Given the description of an element on the screen output the (x, y) to click on. 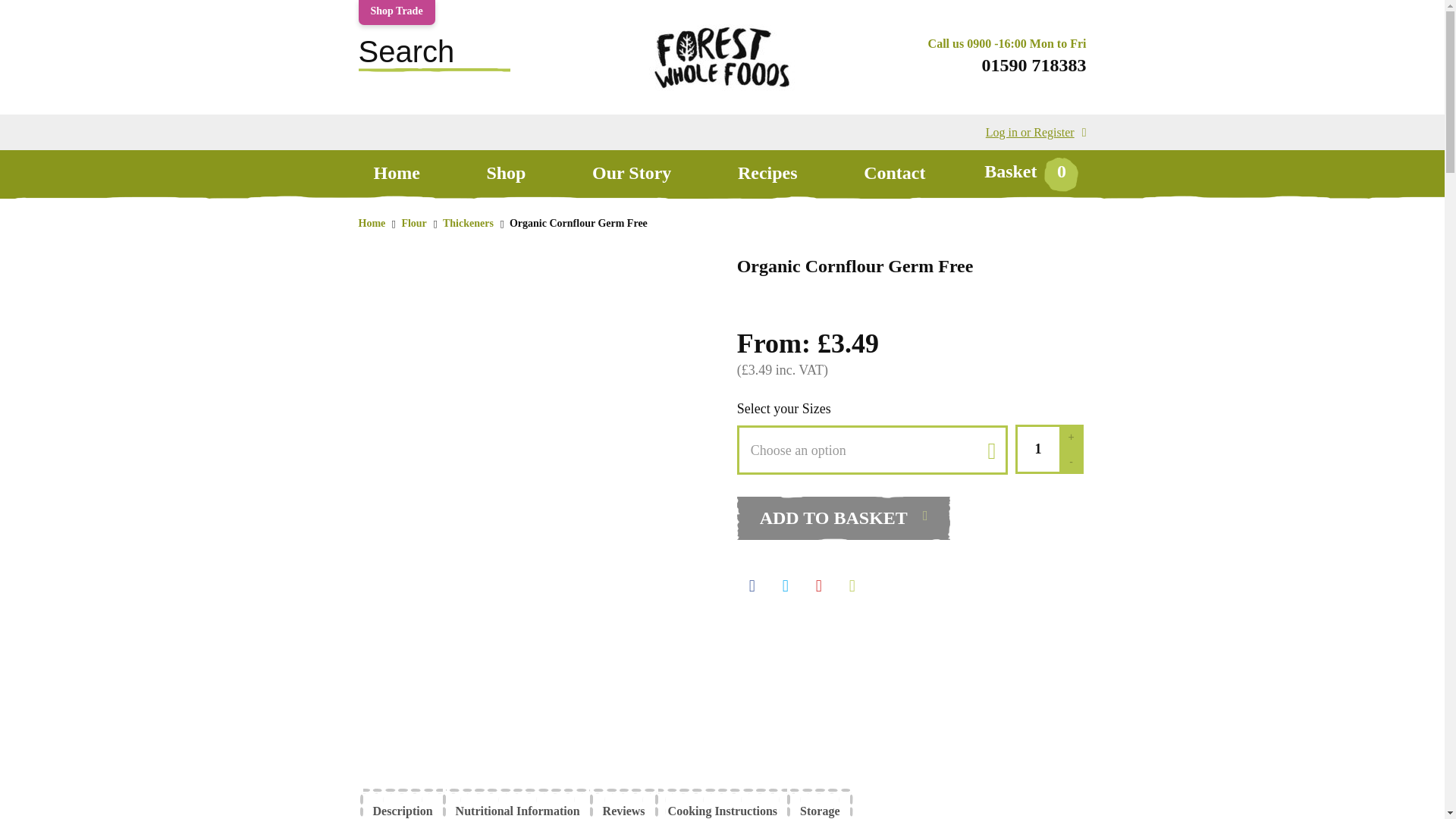
Home (395, 172)
Share on Facebook (752, 582)
Log in or Register (1035, 131)
- (1070, 461)
Shop Trade (395, 12)
Shop (505, 172)
Tweet (786, 582)
Pin it (818, 582)
Existing customer? Log in or Register (1035, 131)
Forest Whole Foods (721, 93)
